Given the description of an element on the screen output the (x, y) to click on. 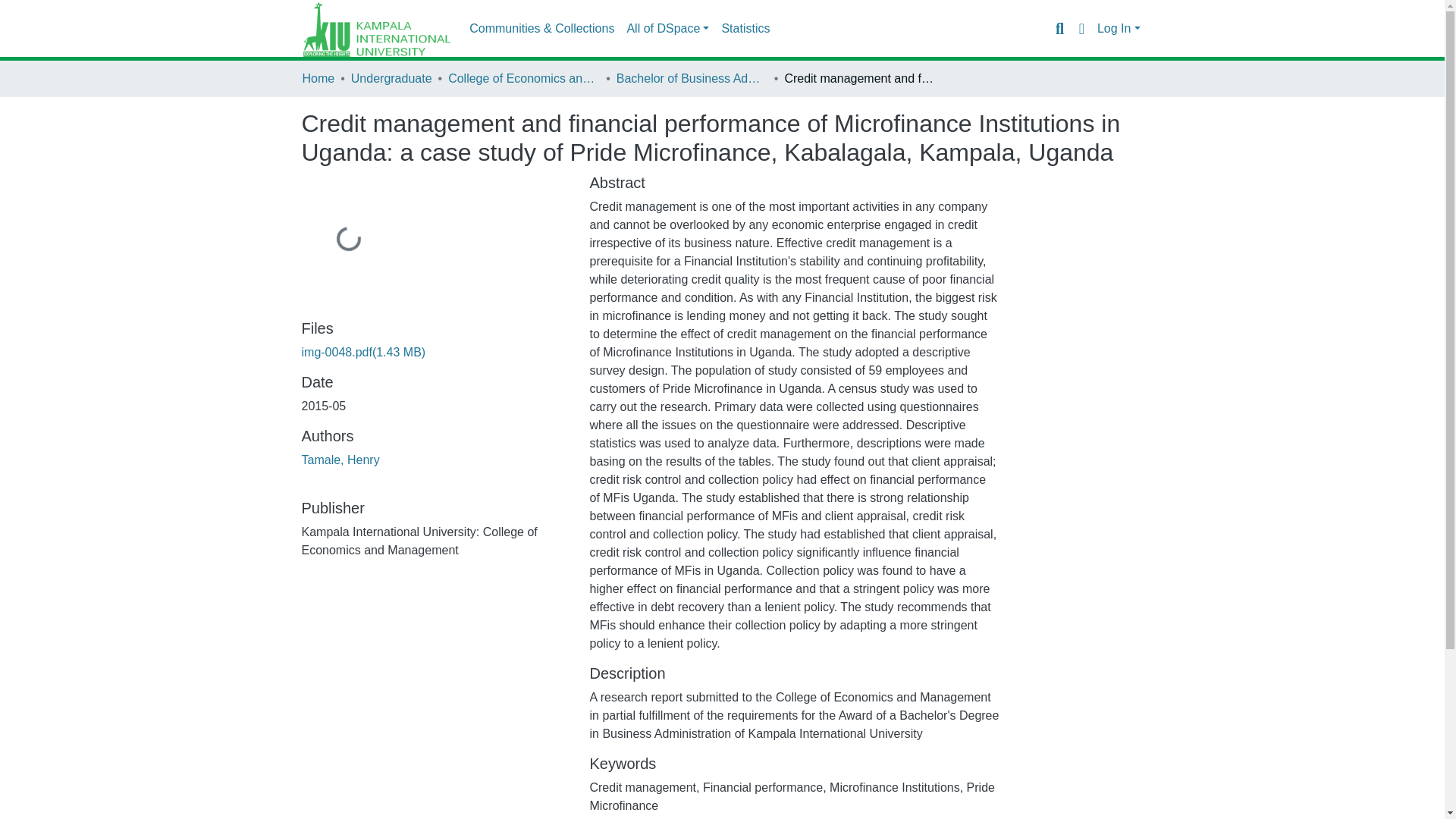
Language switch (1081, 28)
Home (317, 78)
Search (1058, 28)
Undergraduate (391, 78)
Statistics (745, 28)
Tamale, Henry (340, 459)
Statistics (745, 28)
All of DSpace (667, 28)
Log In (1118, 28)
College of Economics and Management (523, 78)
